Given the description of an element on the screen output the (x, y) to click on. 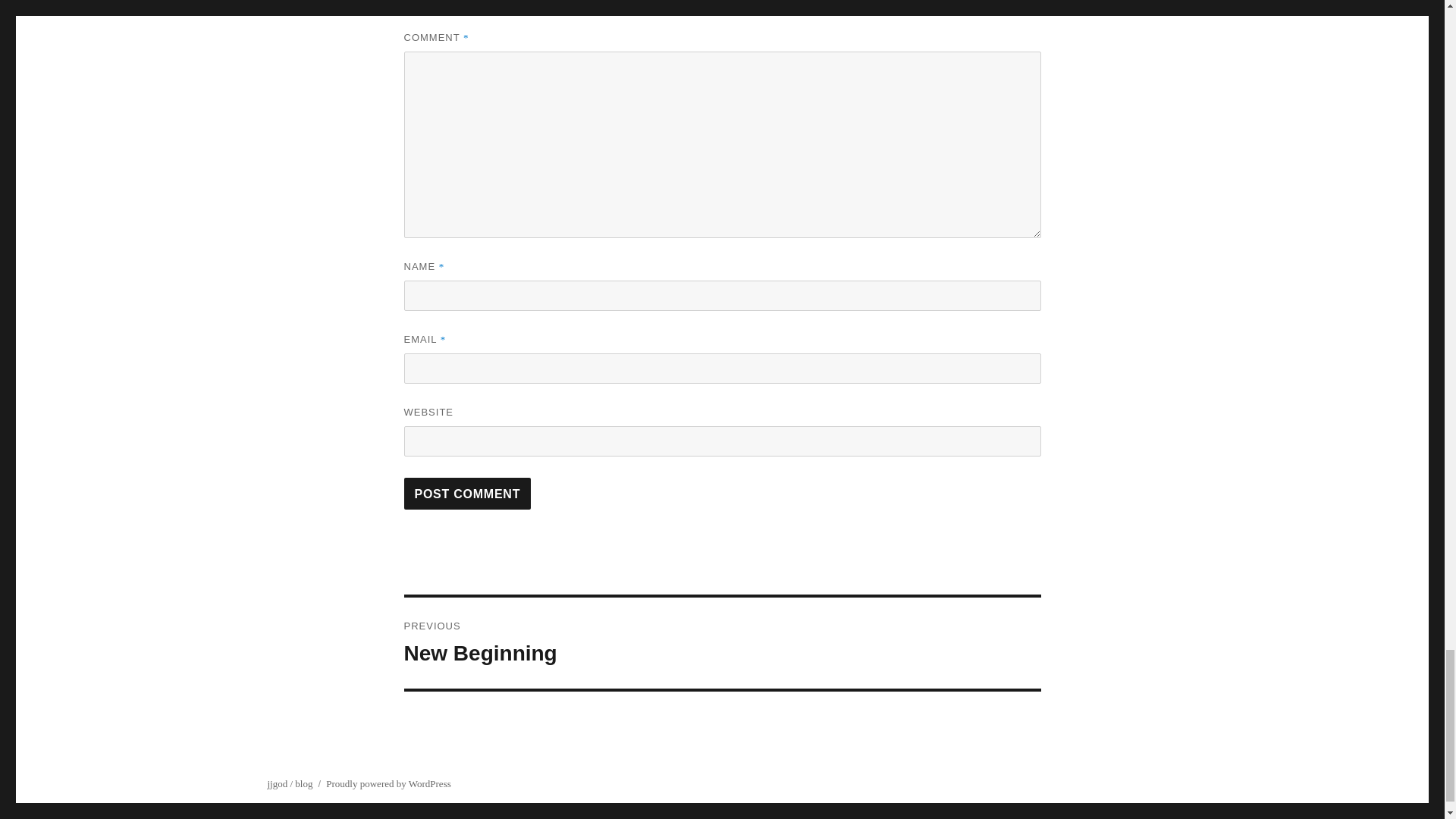
Post Comment (467, 493)
Post Comment (467, 493)
Proudly powered by WordPress (387, 783)
